Given the description of an element on the screen output the (x, y) to click on. 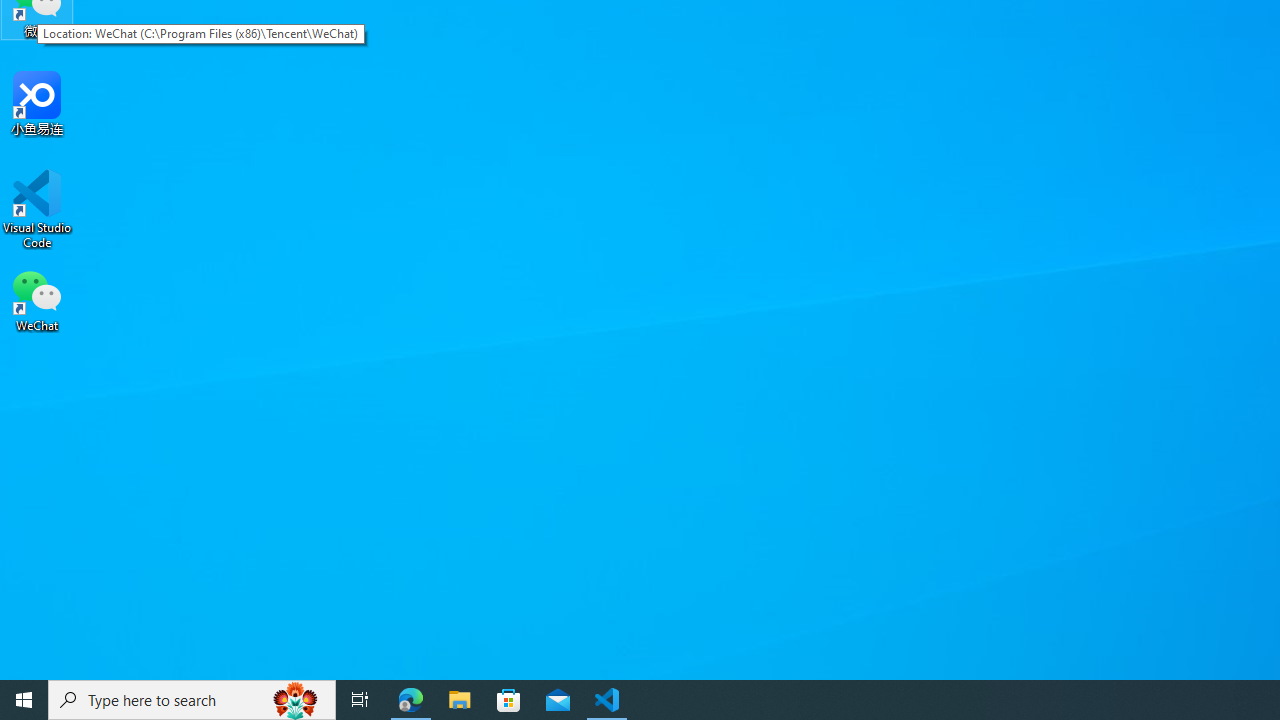
WeChat (37, 299)
Search highlights icon opens search home window (295, 699)
Visual Studio Code - 1 running window (607, 699)
Microsoft Store (509, 699)
Microsoft Edge - 1 running window (411, 699)
Task View (359, 699)
Visual Studio Code (37, 209)
File Explorer (460, 699)
Type here to search (191, 699)
Start (24, 699)
